Given the description of an element on the screen output the (x, y) to click on. 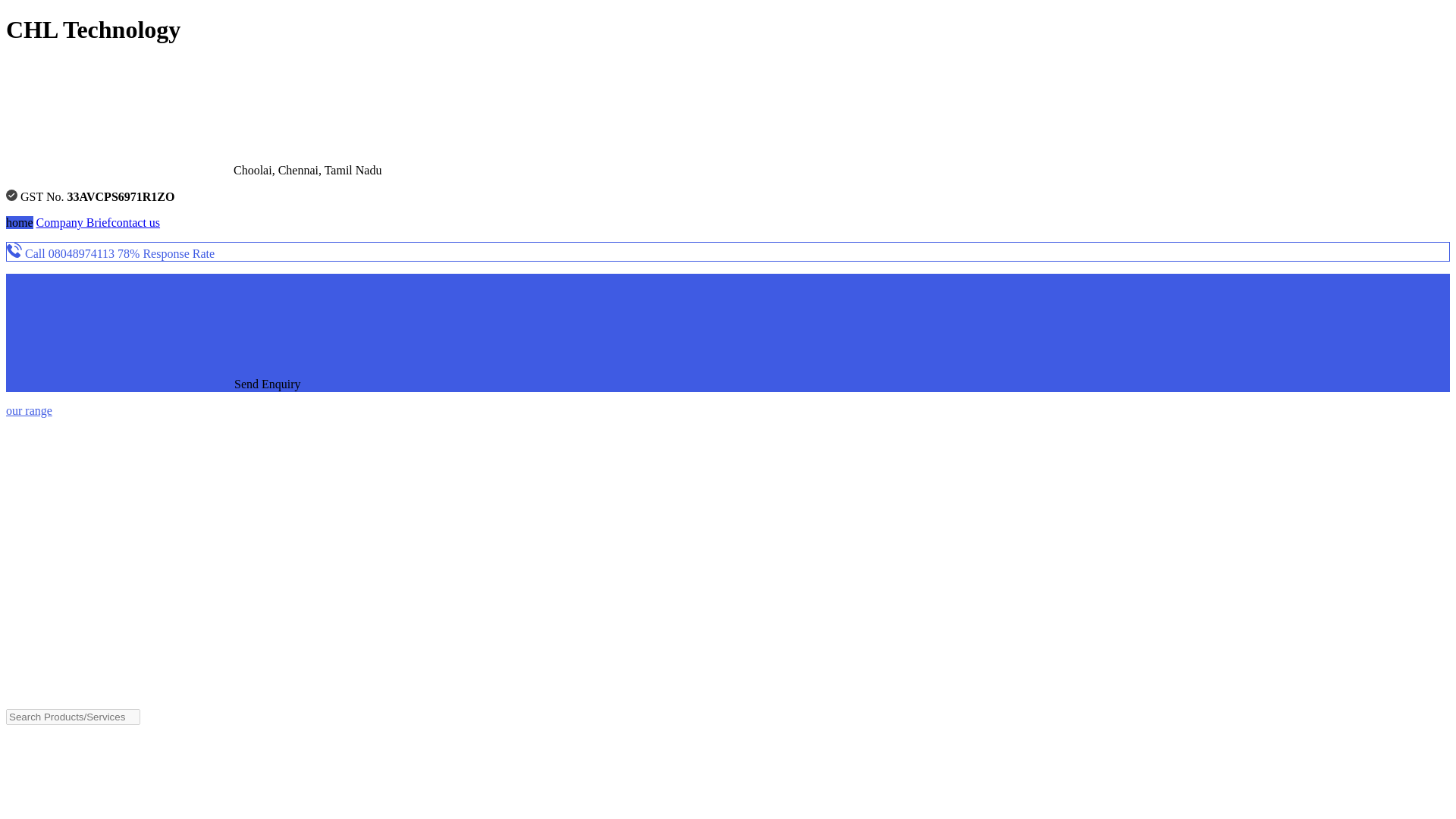
contact us (136, 222)
Company Brief (74, 222)
our range (28, 410)
